Given the description of an element on the screen output the (x, y) to click on. 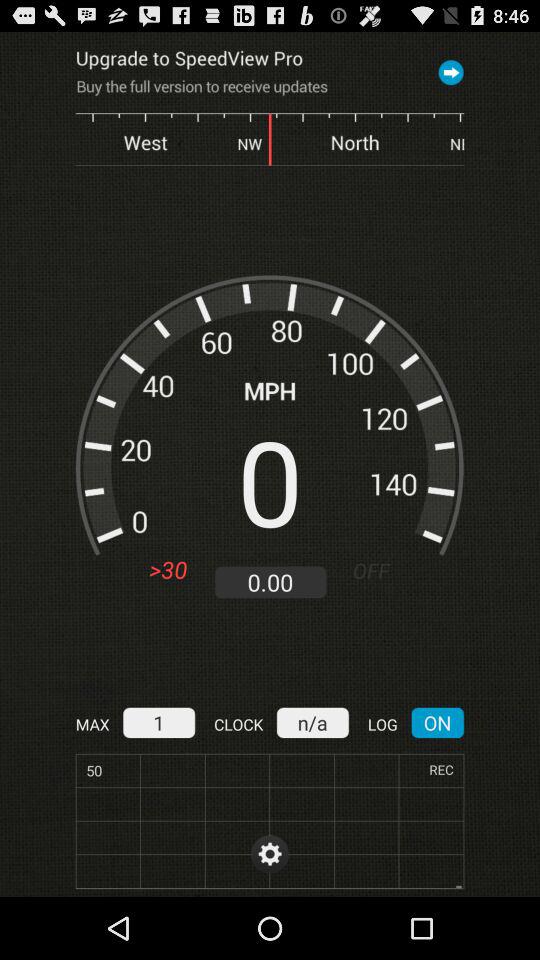
click item on the left (168, 570)
